Given the description of an element on the screen output the (x, y) to click on. 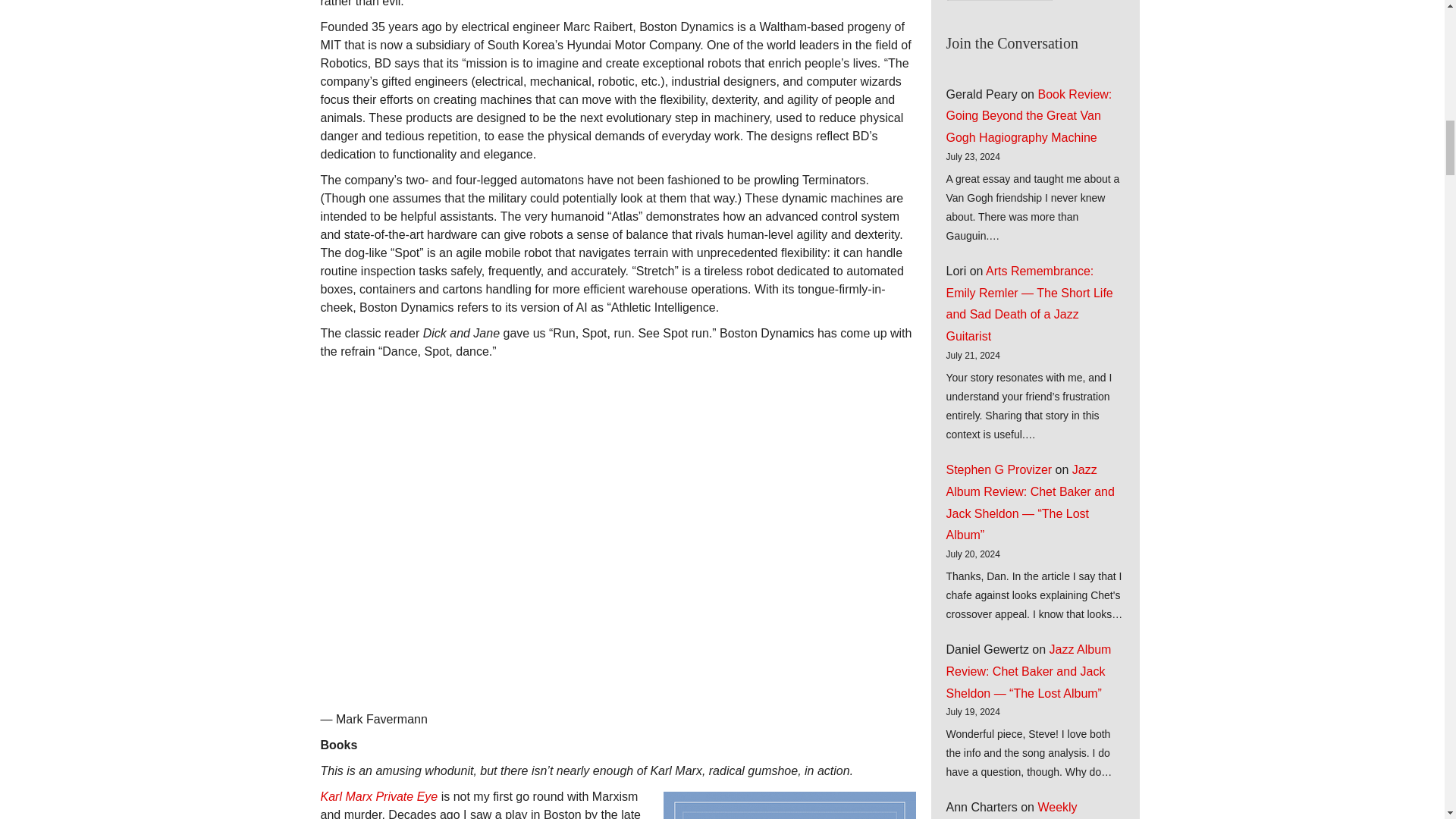
Karl Marx Private Eye (379, 796)
